Given the description of an element on the screen output the (x, y) to click on. 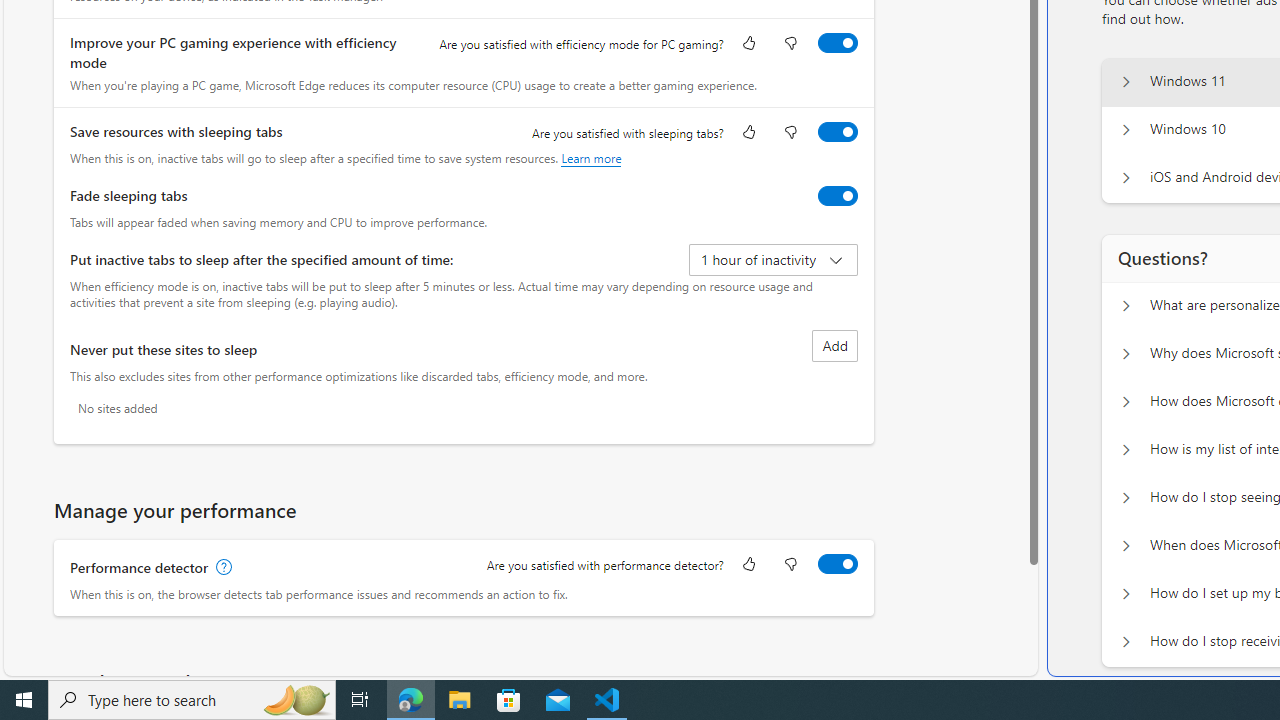
Questions? Why does Microsoft show personalized ads? (1125, 353)
Questions? How is my list of interests populated? (1125, 450)
Like (748, 565)
